Given the description of an element on the screen output the (x, y) to click on. 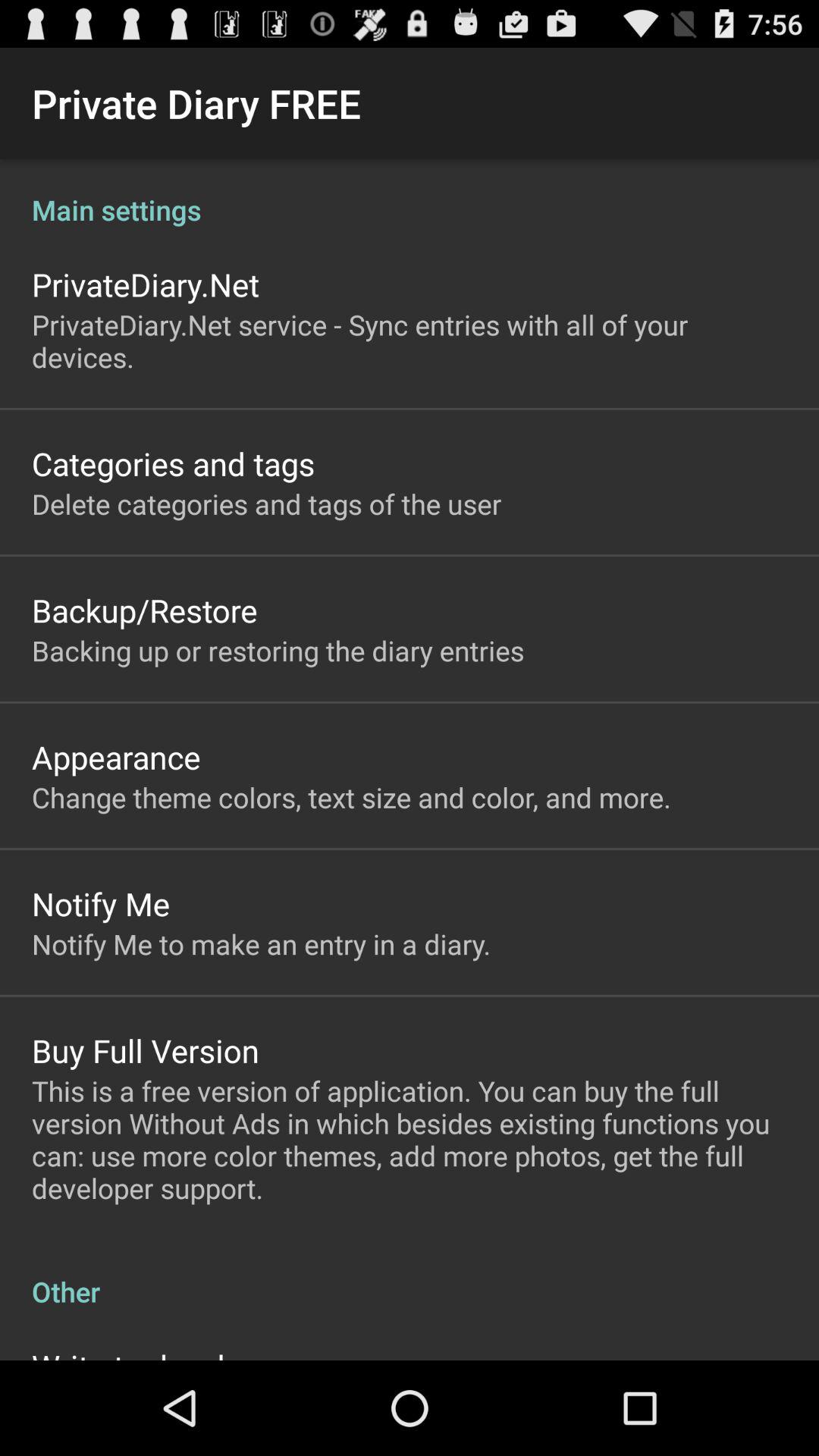
turn on the app above the change theme colors (115, 756)
